Given the description of an element on the screen output the (x, y) to click on. 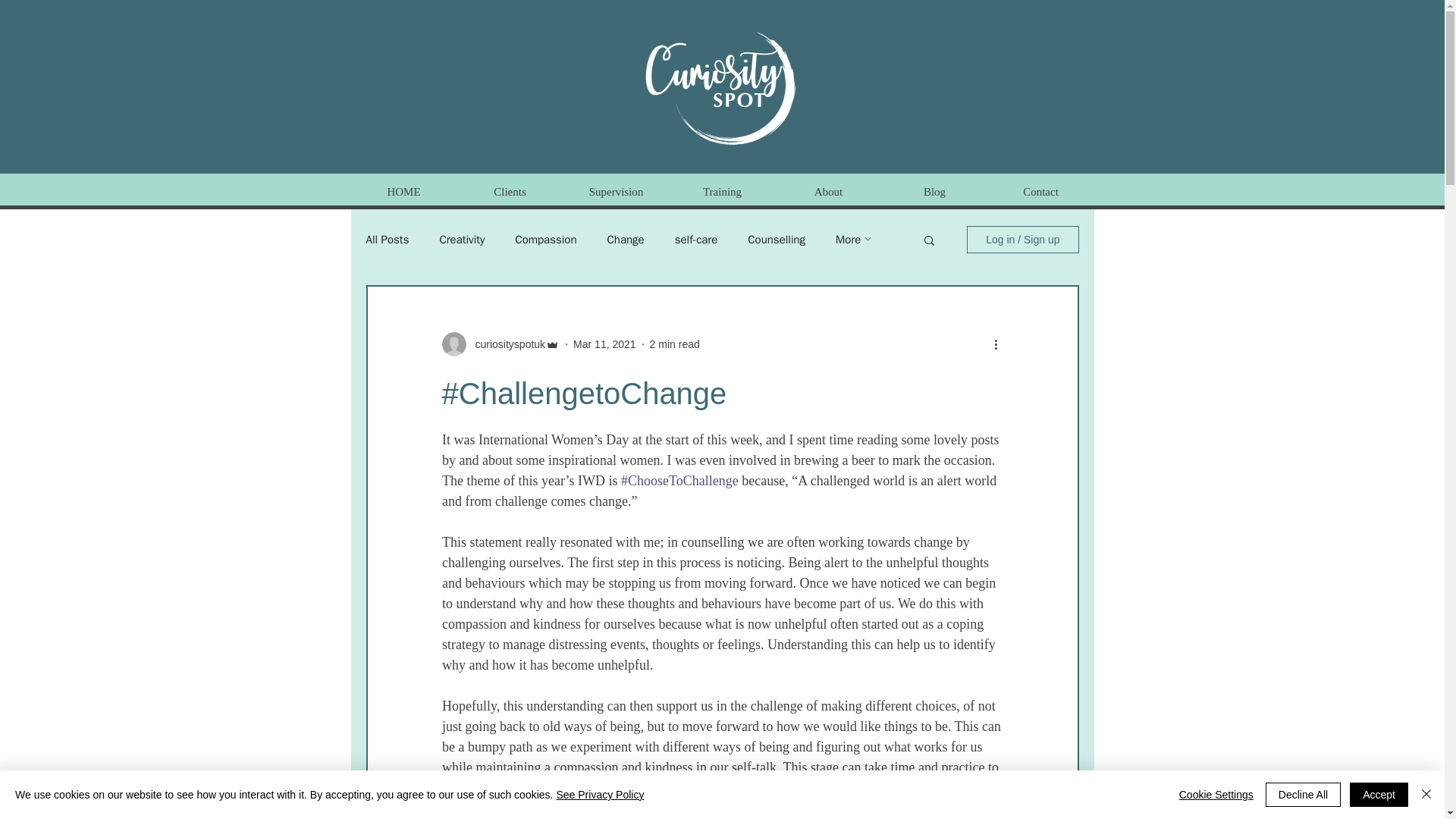
Training (721, 191)
Compassion (545, 238)
2 min read (674, 344)
Mar 11, 2021 (604, 344)
About (827, 191)
self-care (696, 238)
Counselling (776, 238)
Clients (509, 191)
Blog (933, 191)
HOME (403, 191)
